Given the description of an element on the screen output the (x, y) to click on. 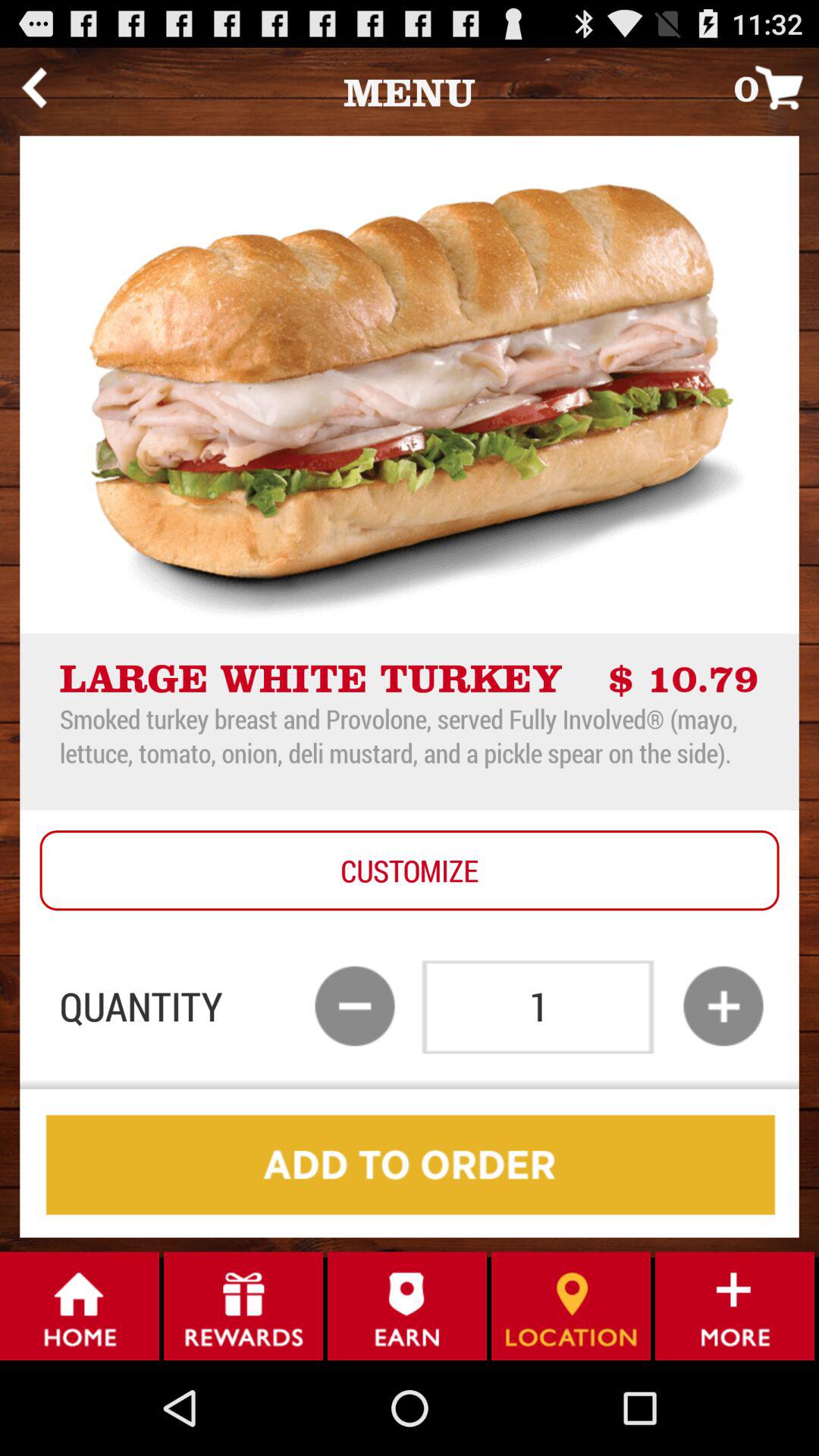
select the app to the left of menu icon (33, 87)
